Given the description of an element on the screen output the (x, y) to click on. 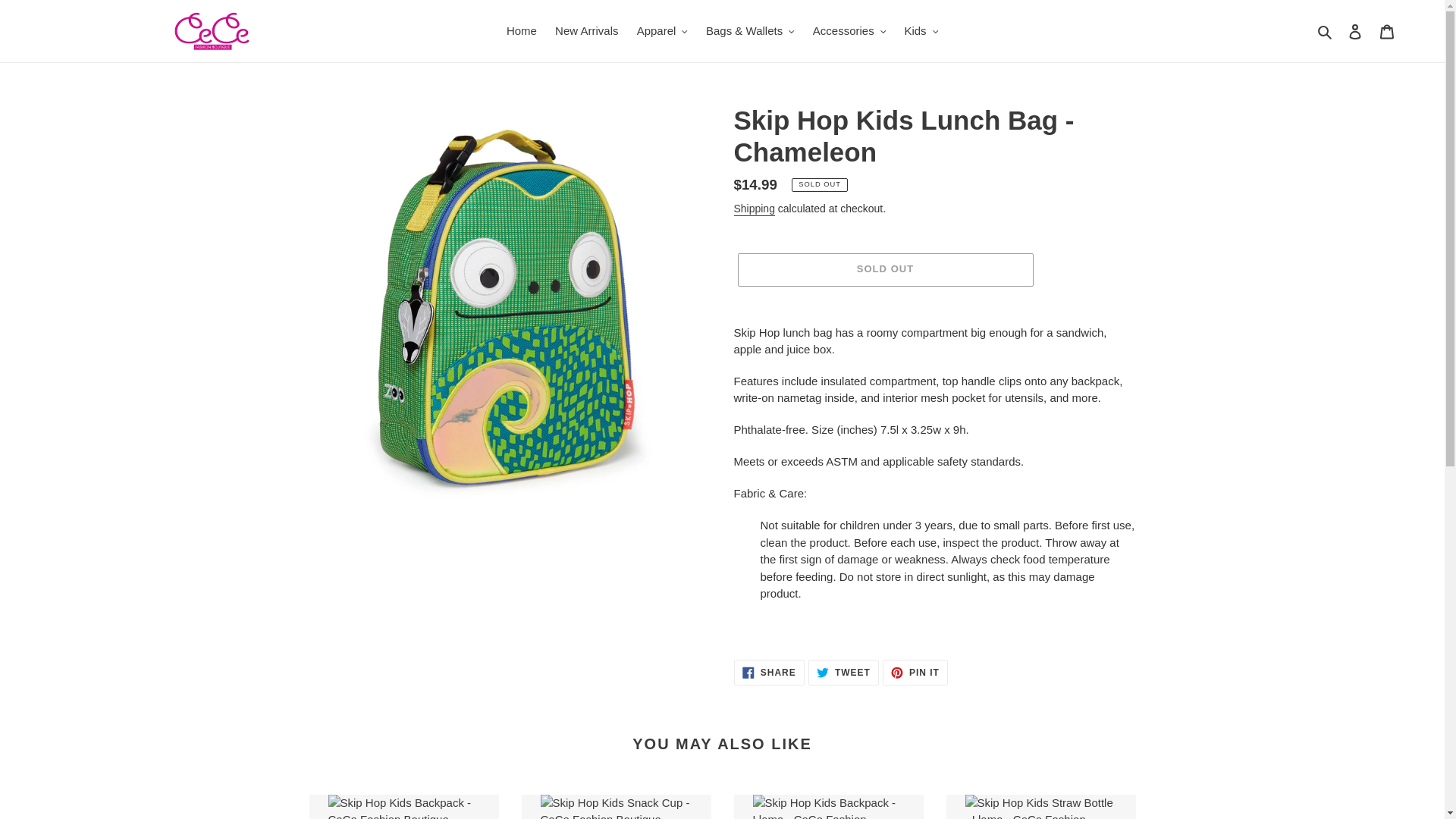
Home (521, 31)
New Arrivals (586, 31)
Apparel (661, 31)
